Given the description of an element on the screen output the (x, y) to click on. 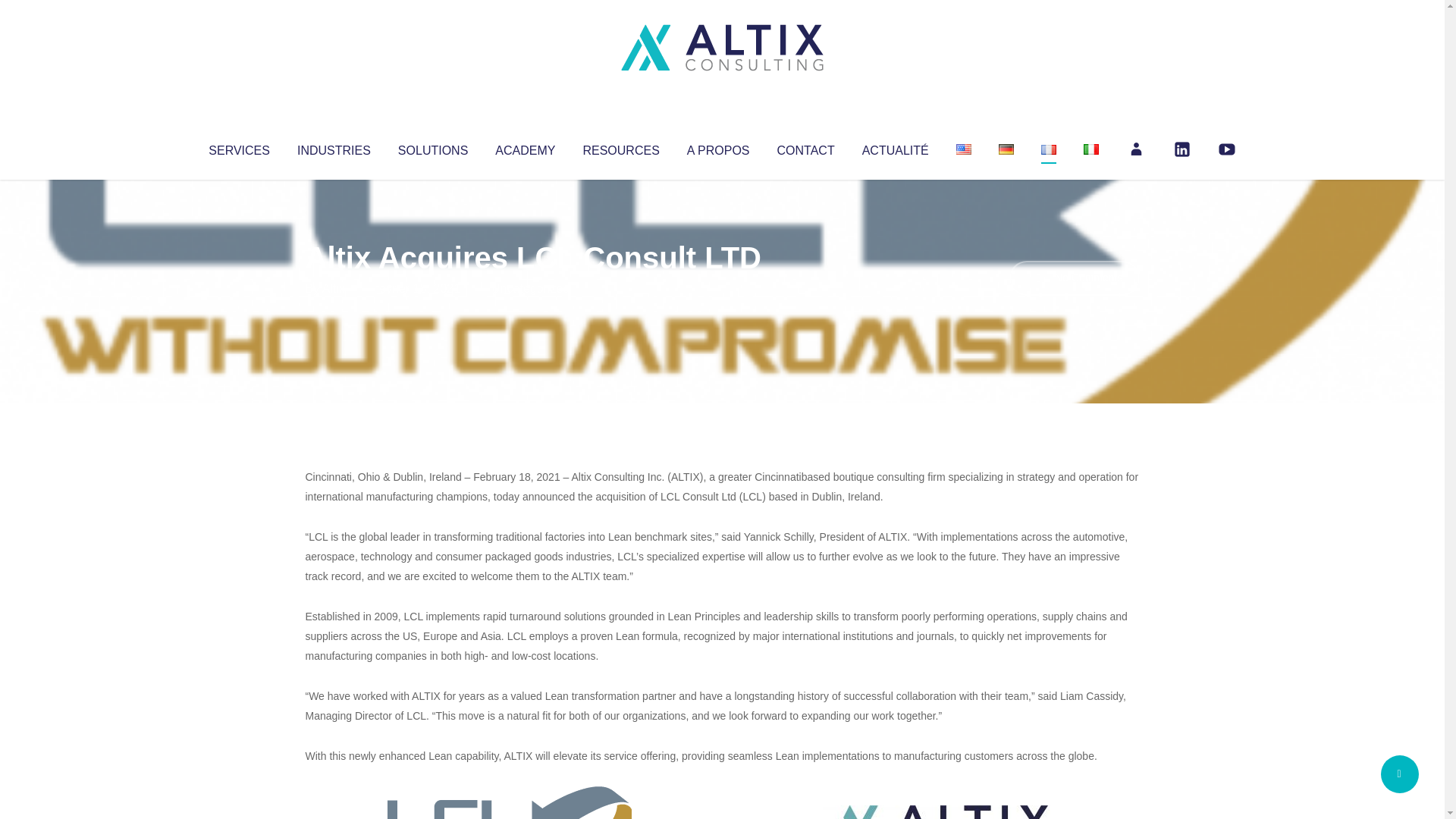
SOLUTIONS (432, 146)
Altix (333, 287)
SERVICES (238, 146)
RESOURCES (620, 146)
No Comments (1073, 278)
Articles par Altix (333, 287)
A PROPOS (718, 146)
ACADEMY (524, 146)
INDUSTRIES (334, 146)
Uncategorized (530, 287)
